Given the description of an element on the screen output the (x, y) to click on. 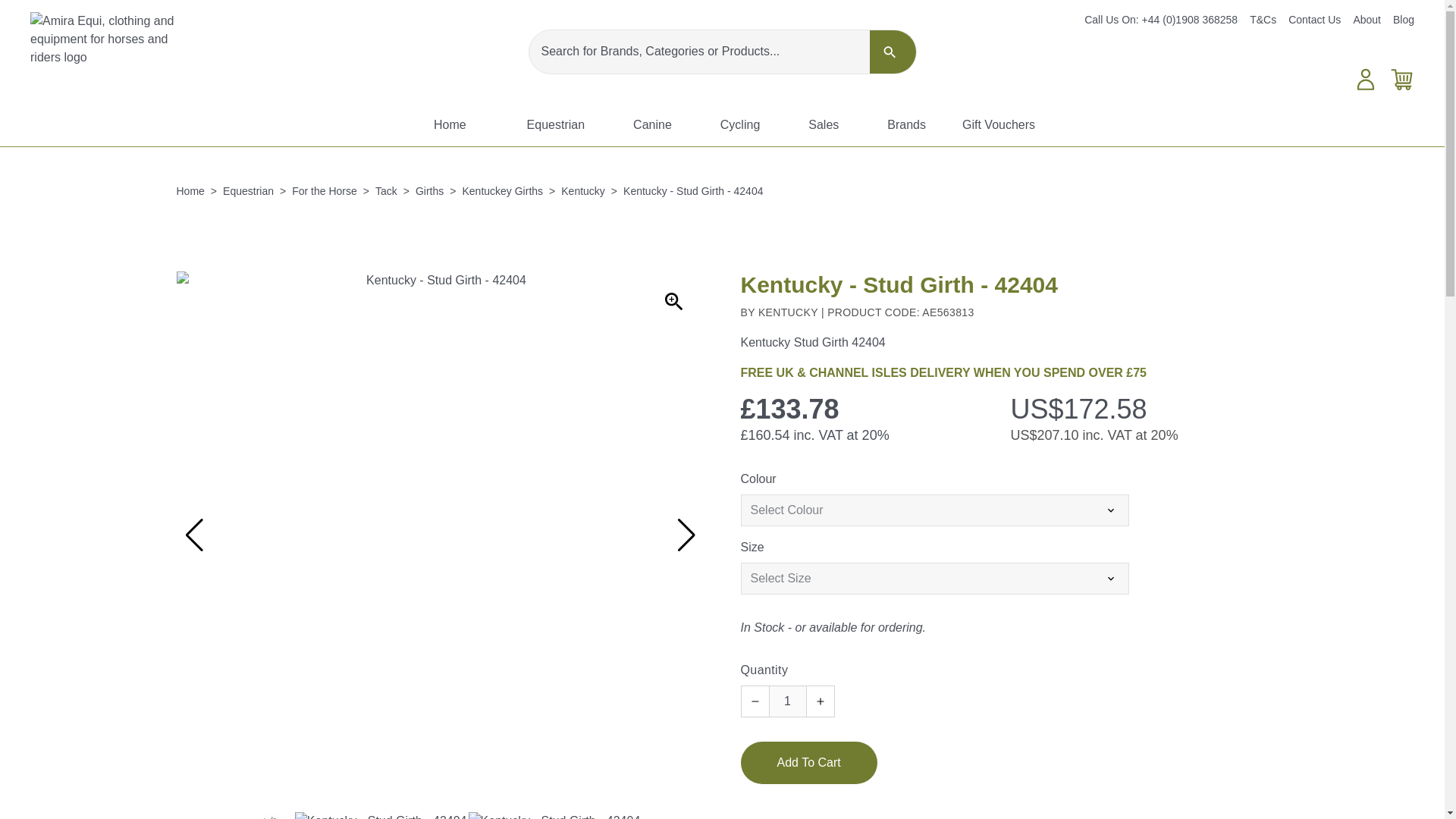
View full screen (673, 301)
Kentucky - Stud Girth - 42404 (267, 815)
Kentucky - Stud Girth - 42404 (381, 815)
About (1366, 19)
Blog (1403, 19)
Equestrian (555, 125)
Home (449, 125)
Kentucky - Stud Girth - 42404 (554, 815)
